Given the description of an element on the screen output the (x, y) to click on. 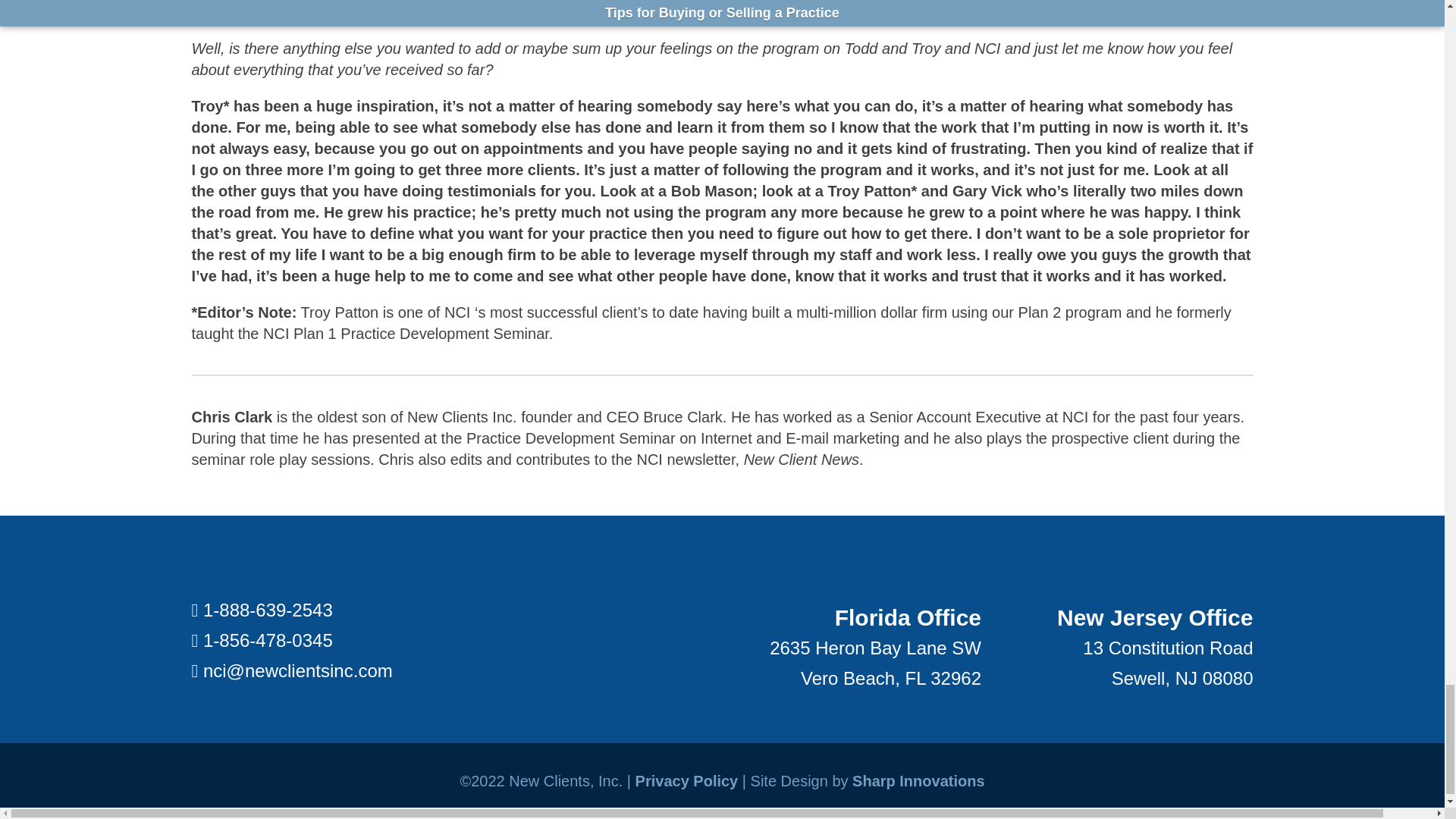
Privacy Policy (686, 781)
1-888-639-2543 (268, 609)
1-856-478-0345 (268, 639)
